Given the description of an element on the screen output the (x, y) to click on. 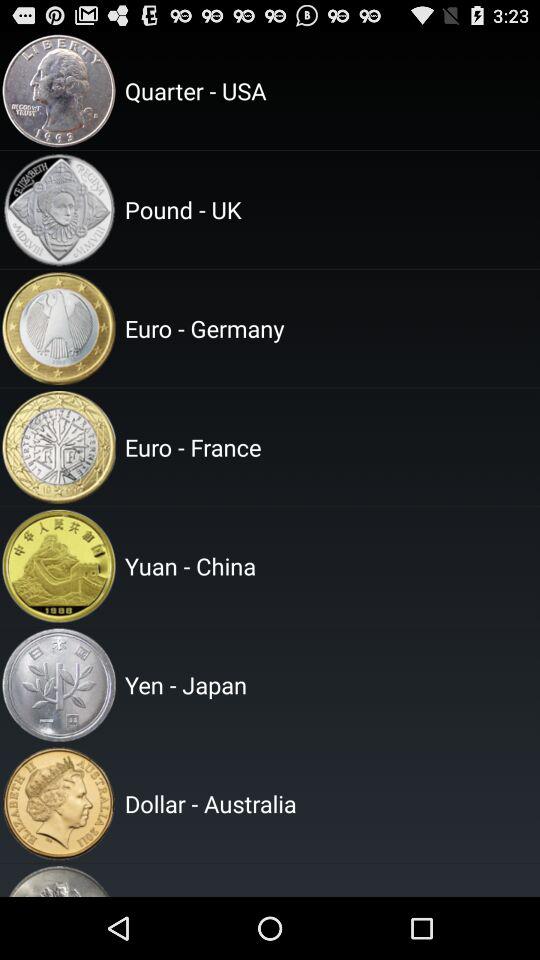
choose quarter - usa item (329, 90)
